Given the description of an element on the screen output the (x, y) to click on. 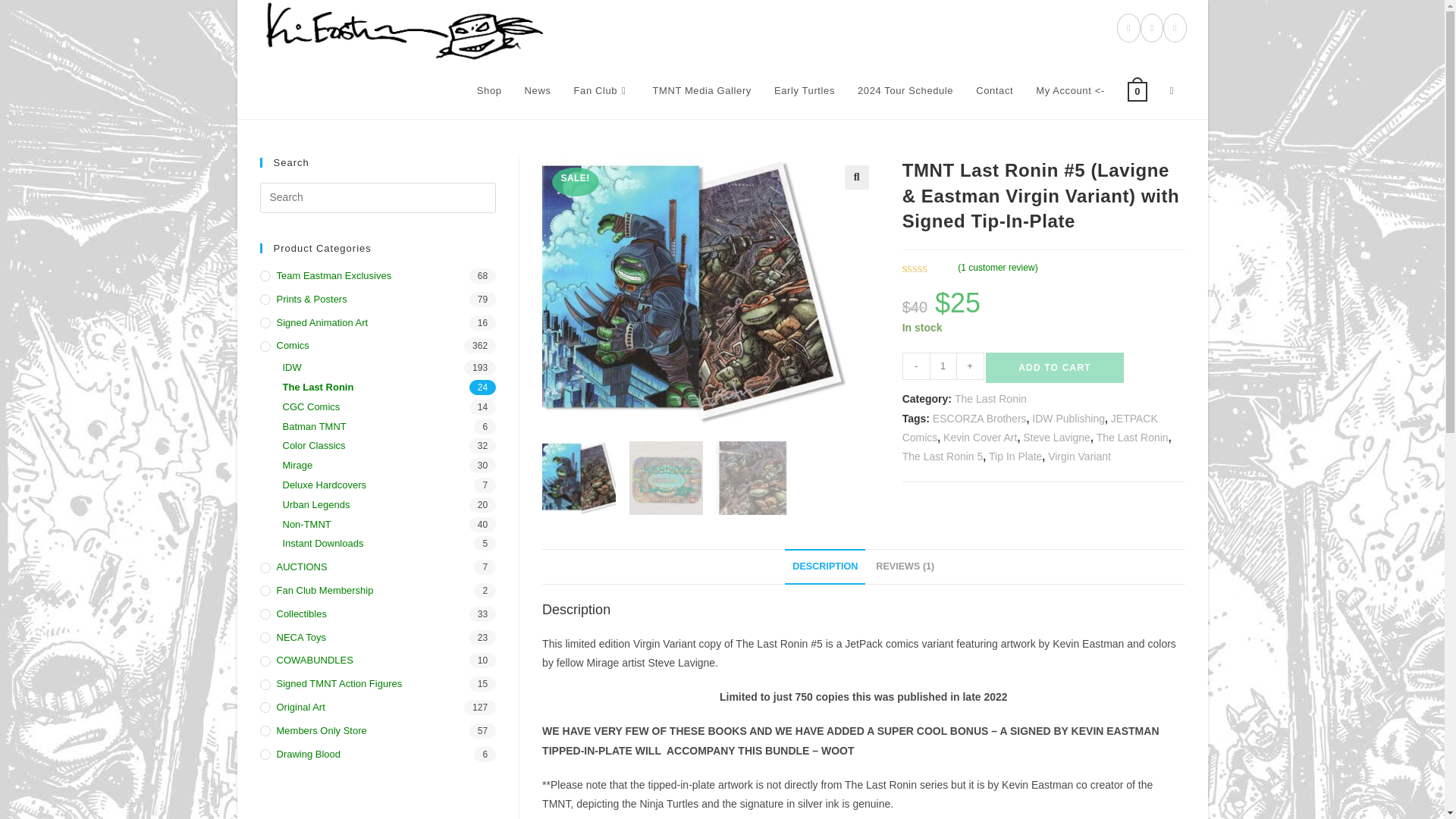
Fan Club (602, 90)
eastman-lavine-tmnt-5-2 (693, 291)
Early Turtles (803, 90)
Contact (994, 90)
TMNT Media Gallery (700, 90)
1 (943, 366)
2024 Tour Schedule (904, 90)
